Given the description of an element on the screen output the (x, y) to click on. 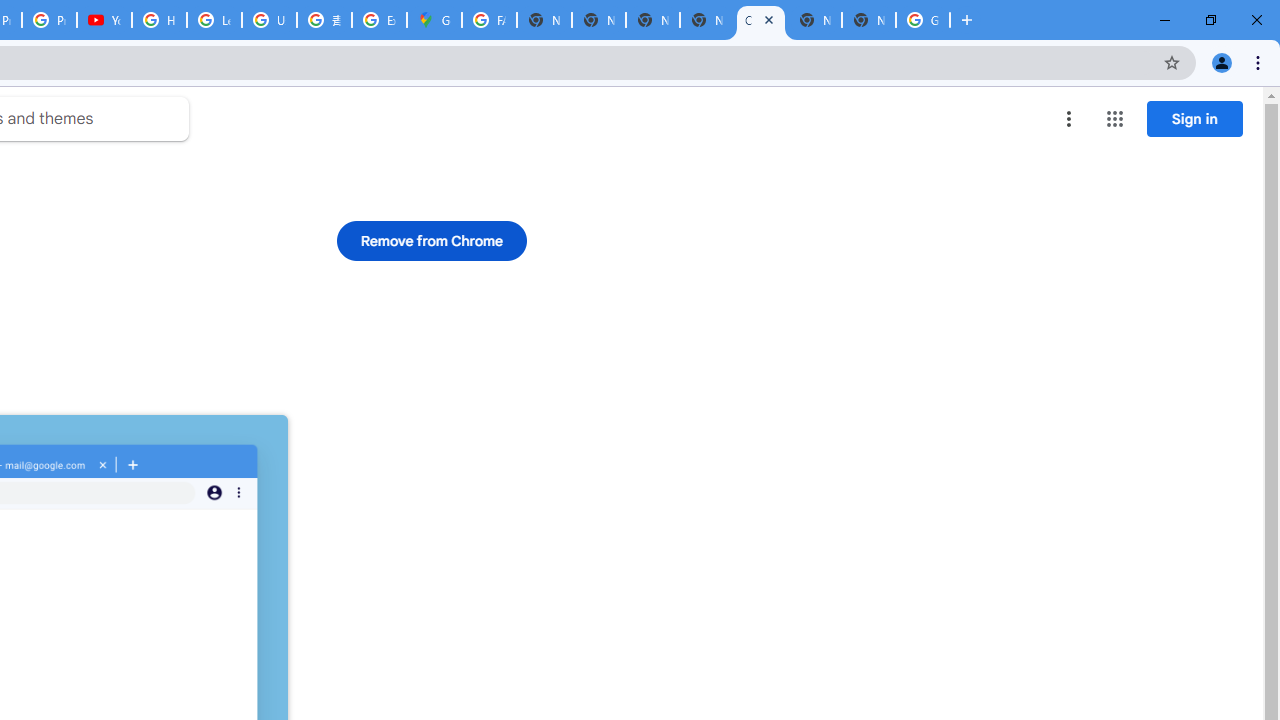
YouTube (103, 20)
Google Images (922, 20)
Explore new street-level details - Google Maps Help (379, 20)
Classic Blue - Chrome Web Store (760, 20)
